Given the description of an element on the screen output the (x, y) to click on. 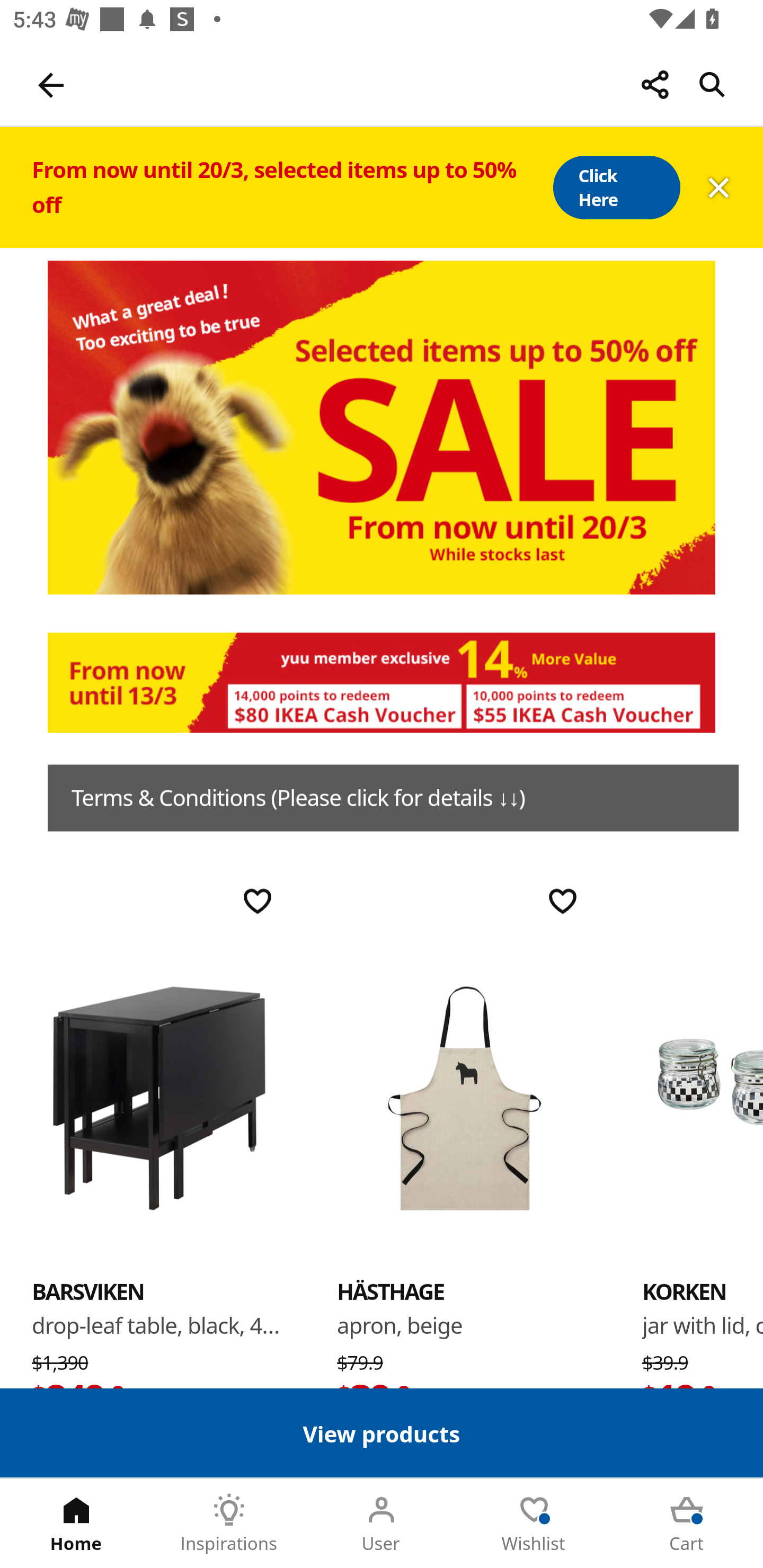
Click Here (615, 187)
Terms & Conditions (Please click for details ↓↓) (393, 798)
BARSVIKEN (159, 1096)
HÄSTHAGE (464, 1096)
KORKEN (702, 1096)
BARSVIKEN (88, 1290)
HÄSTHAGE (390, 1290)
KORKEN (684, 1290)
View products (381, 1432)
Home
Tab 1 of 5 (76, 1522)
Inspirations
Tab 2 of 5 (228, 1522)
User
Tab 3 of 5 (381, 1522)
Wishlist
Tab 4 of 5 (533, 1522)
Cart
Tab 5 of 5 (686, 1522)
